Given the description of an element on the screen output the (x, y) to click on. 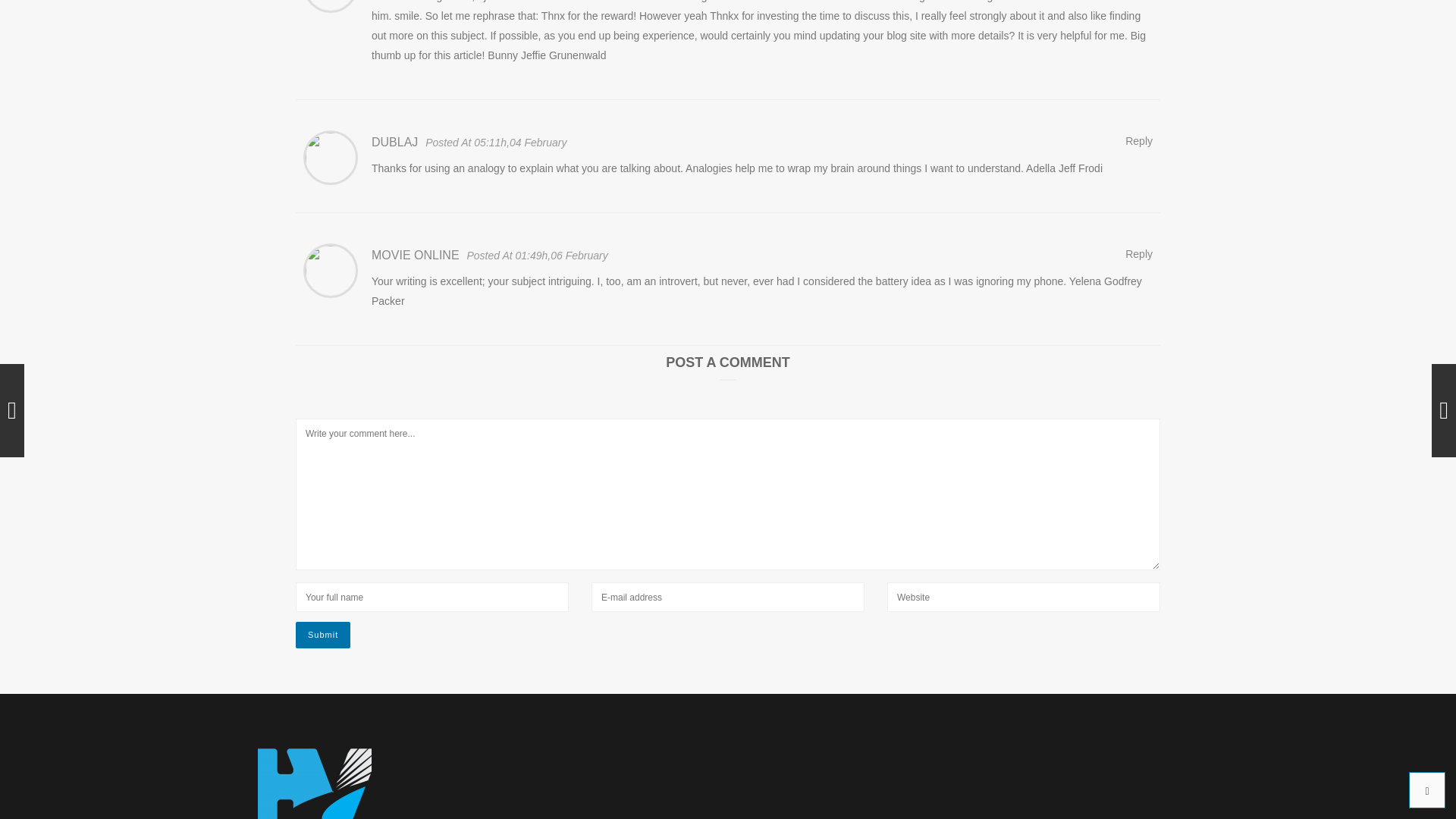
Submit (322, 634)
